Given the description of an element on the screen output the (x, y) to click on. 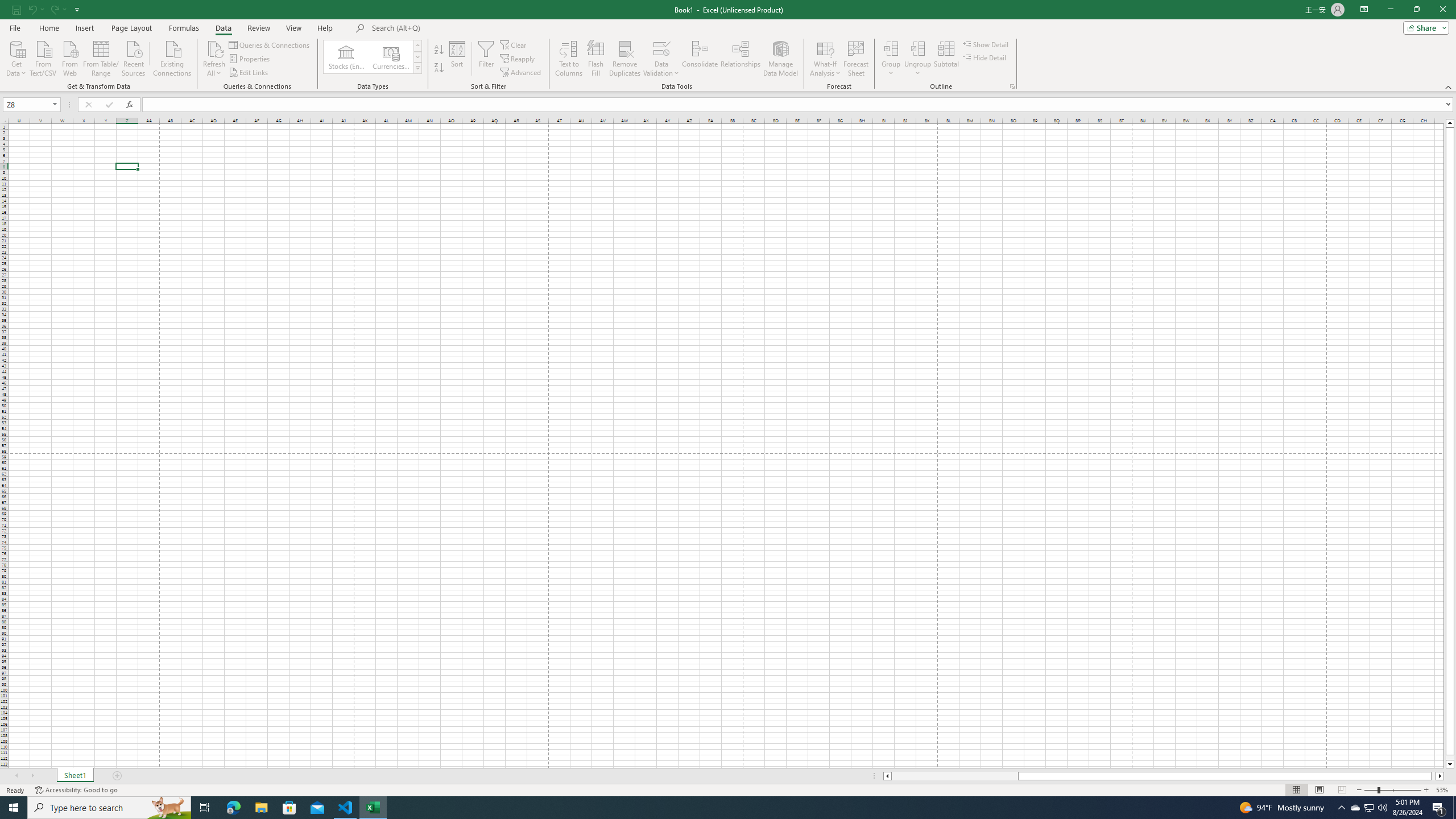
Get Data (16, 57)
Add Sheet (117, 775)
Data Validation... (661, 48)
Page left (954, 775)
Help (325, 28)
